Given the description of an element on the screen output the (x, y) to click on. 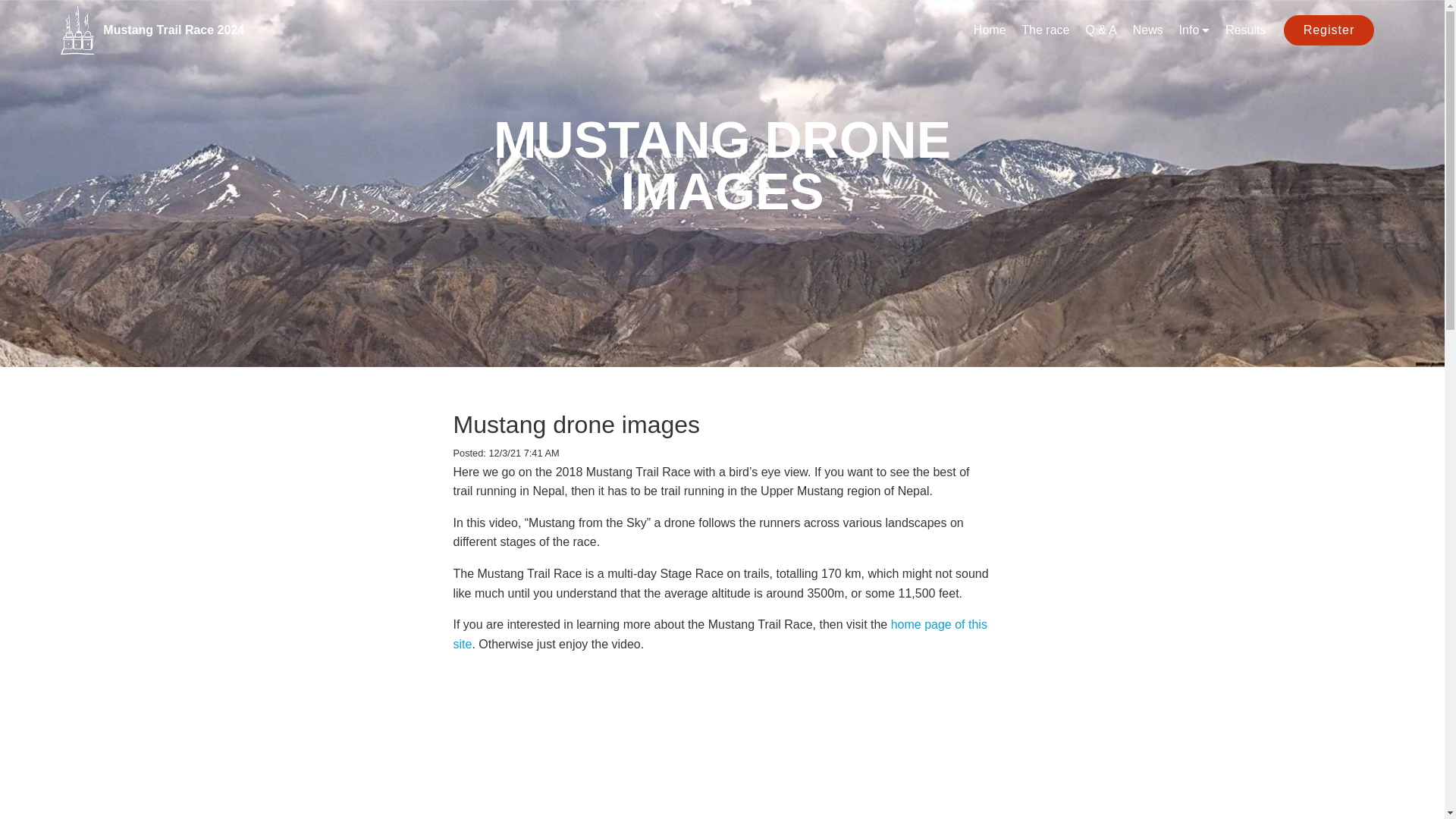
home page of this site (719, 634)
Register (1329, 30)
Results (1245, 30)
The race (1045, 30)
Home (990, 30)
Info (1194, 30)
Mustang Trail Race 2024 (185, 29)
News (1147, 30)
